Given the description of an element on the screen output the (x, y) to click on. 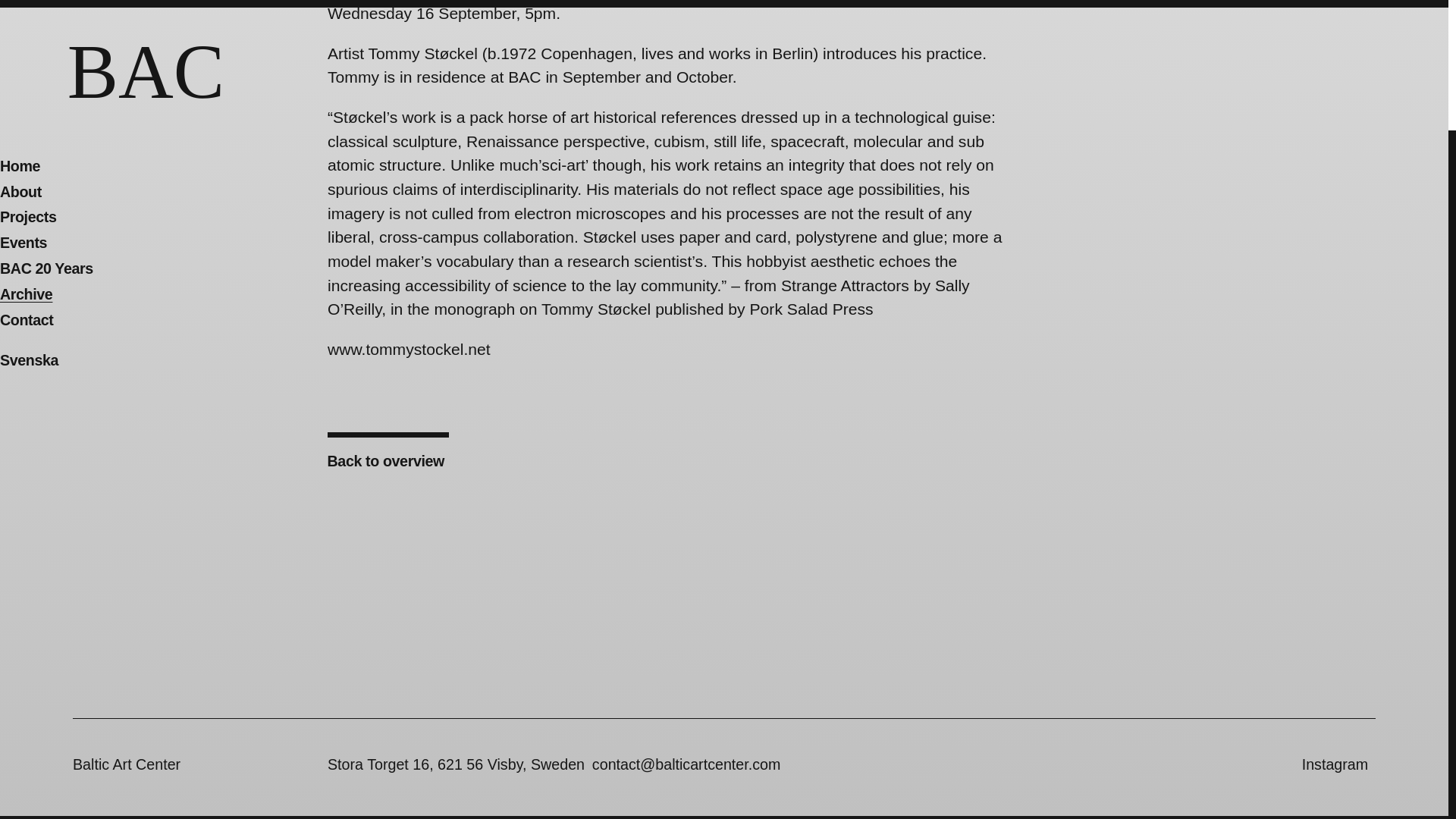
Instagram (1334, 764)
Contact (26, 164)
Svenska (29, 204)
Projects (28, 61)
BAC 20 Years (46, 112)
Archive (26, 138)
Events (23, 86)
Home (20, 10)
